Given the description of an element on the screen output the (x, y) to click on. 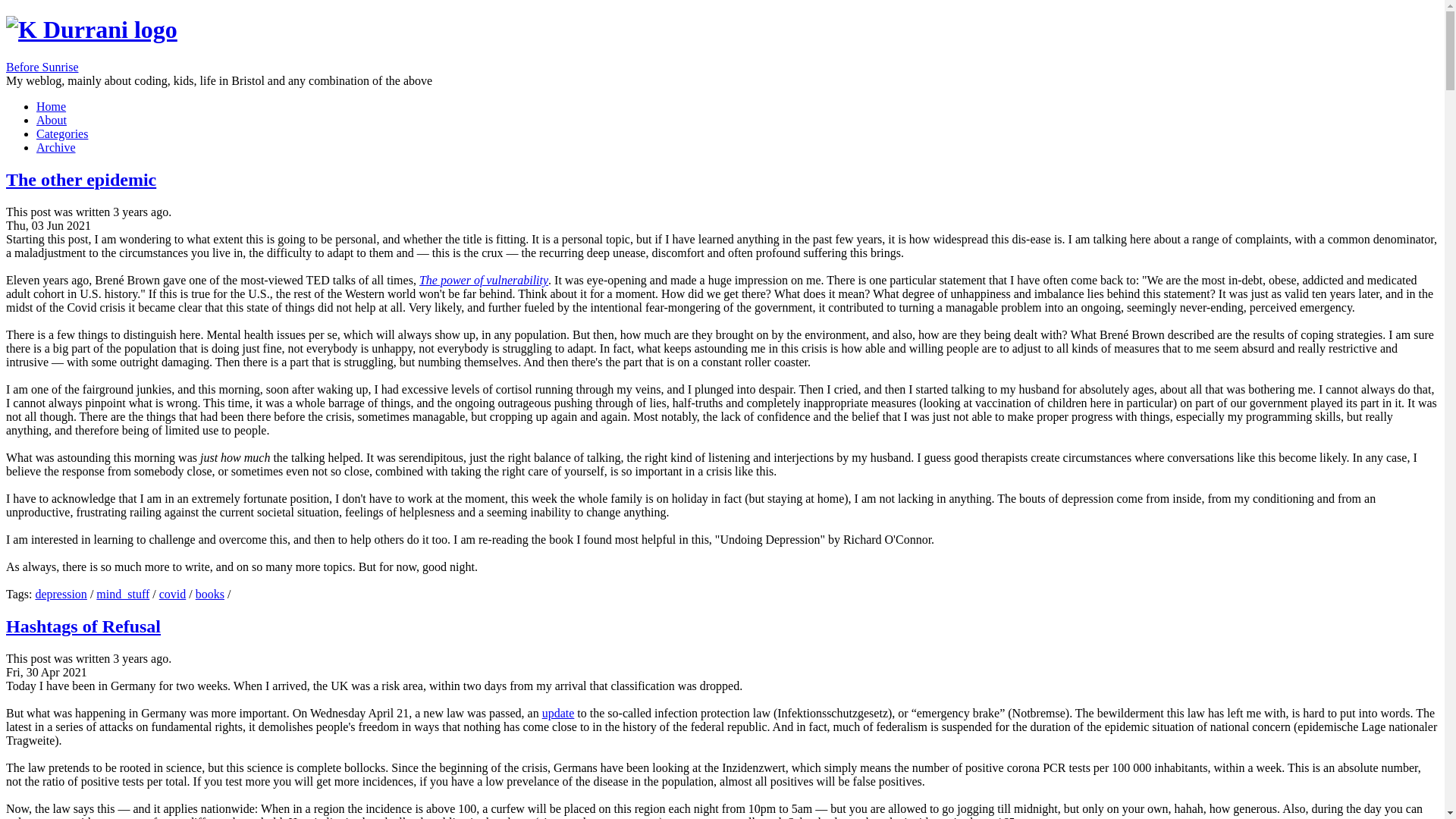
update (558, 712)
About (51, 119)
Categories (61, 133)
Before Sunrise (41, 66)
Home (50, 106)
depression (59, 594)
covid (172, 594)
The power of vulnerability (483, 279)
Archive (55, 146)
books (209, 594)
